Given the description of an element on the screen output the (x, y) to click on. 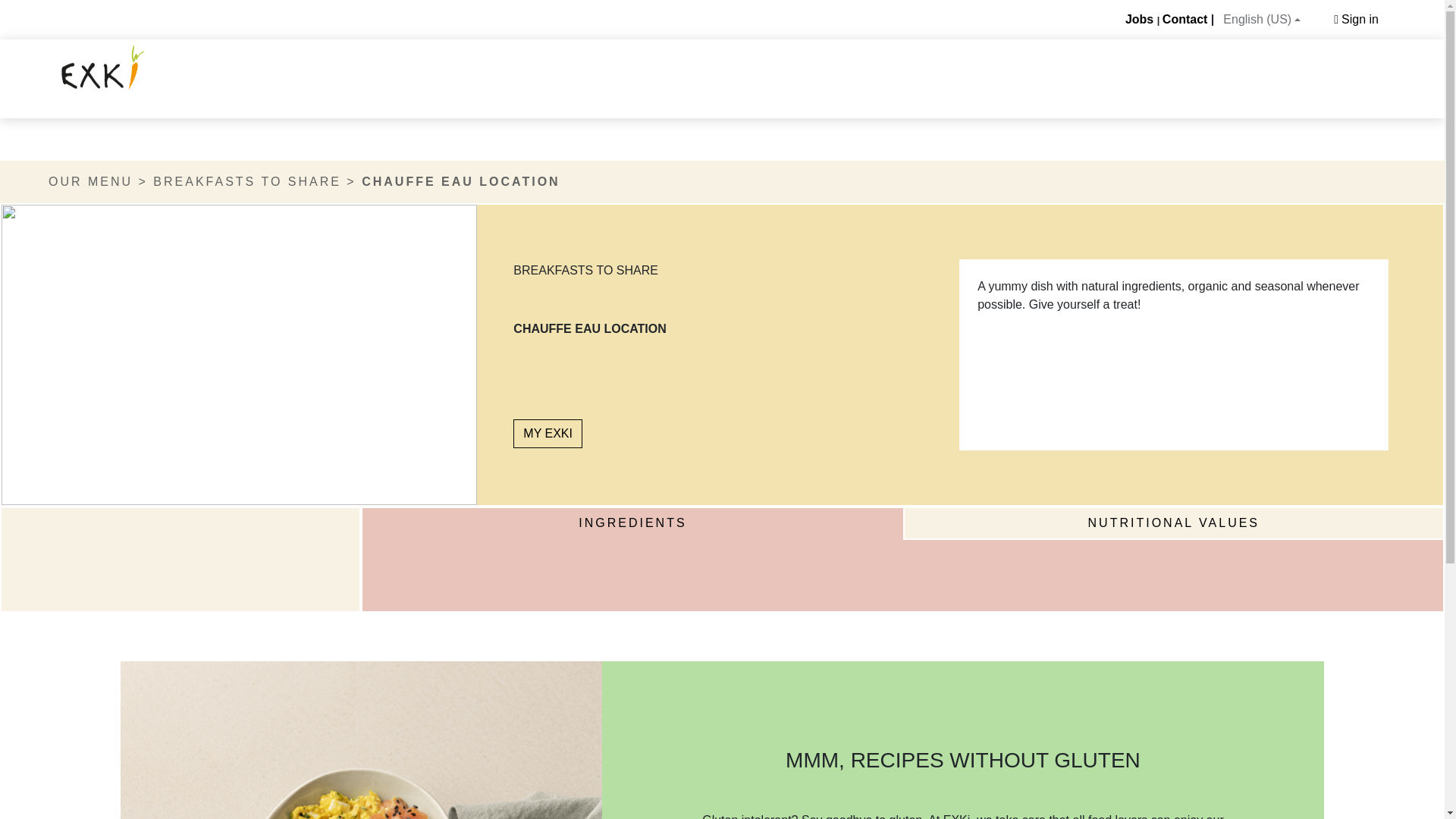
NUTRITIONAL VALUES (1172, 523)
MY EXKI (547, 433)
Sign in (1350, 19)
OUR MENU (90, 181)
Order (103, 67)
INGREDIENTS (632, 523)
BREAKFASTS TO SHARE (246, 181)
Jobs (1139, 19)
Contact (1184, 19)
